Given the description of an element on the screen output the (x, y) to click on. 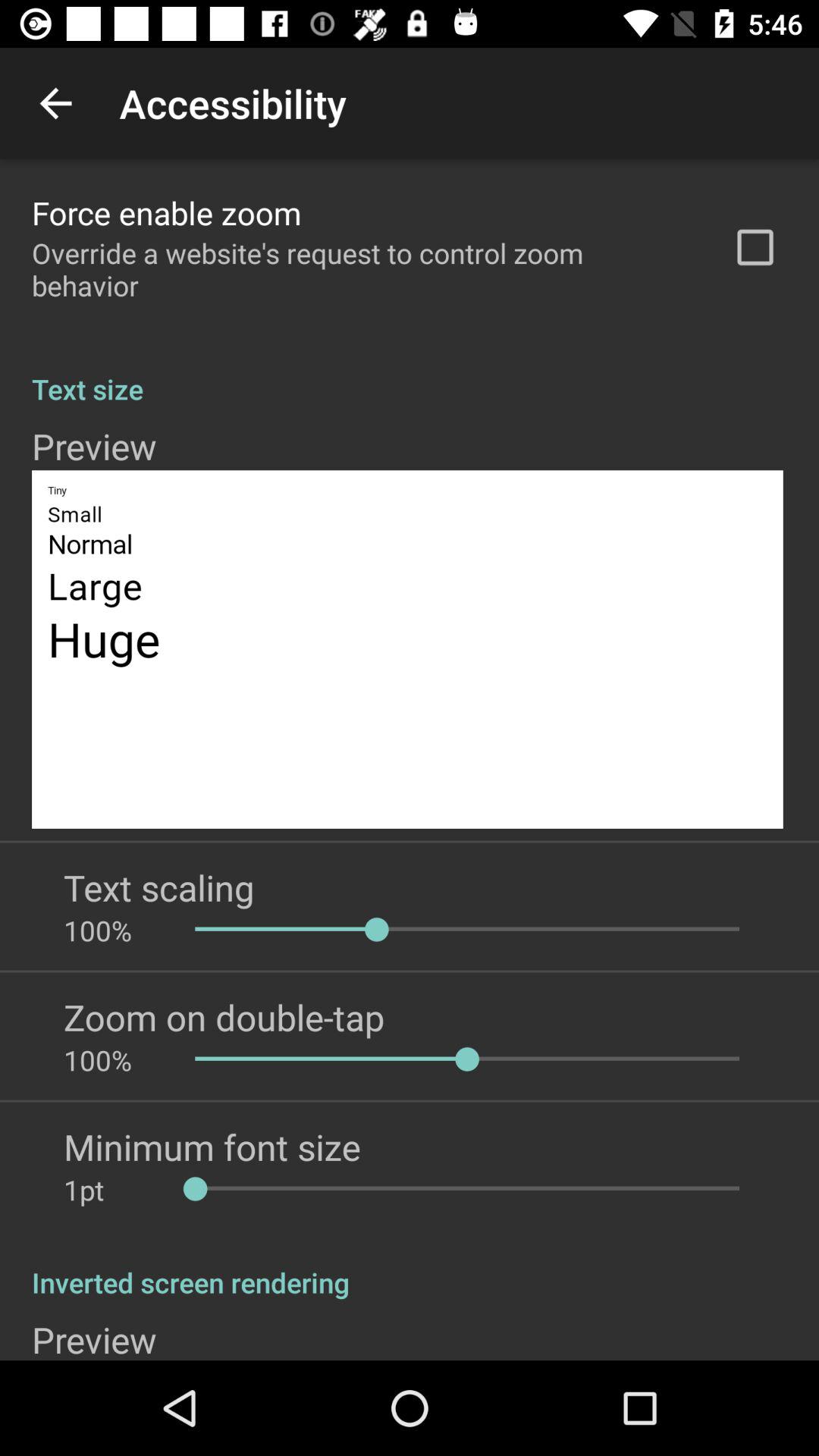
tap the item to the left of accessibility item (55, 103)
